Given the description of an element on the screen output the (x, y) to click on. 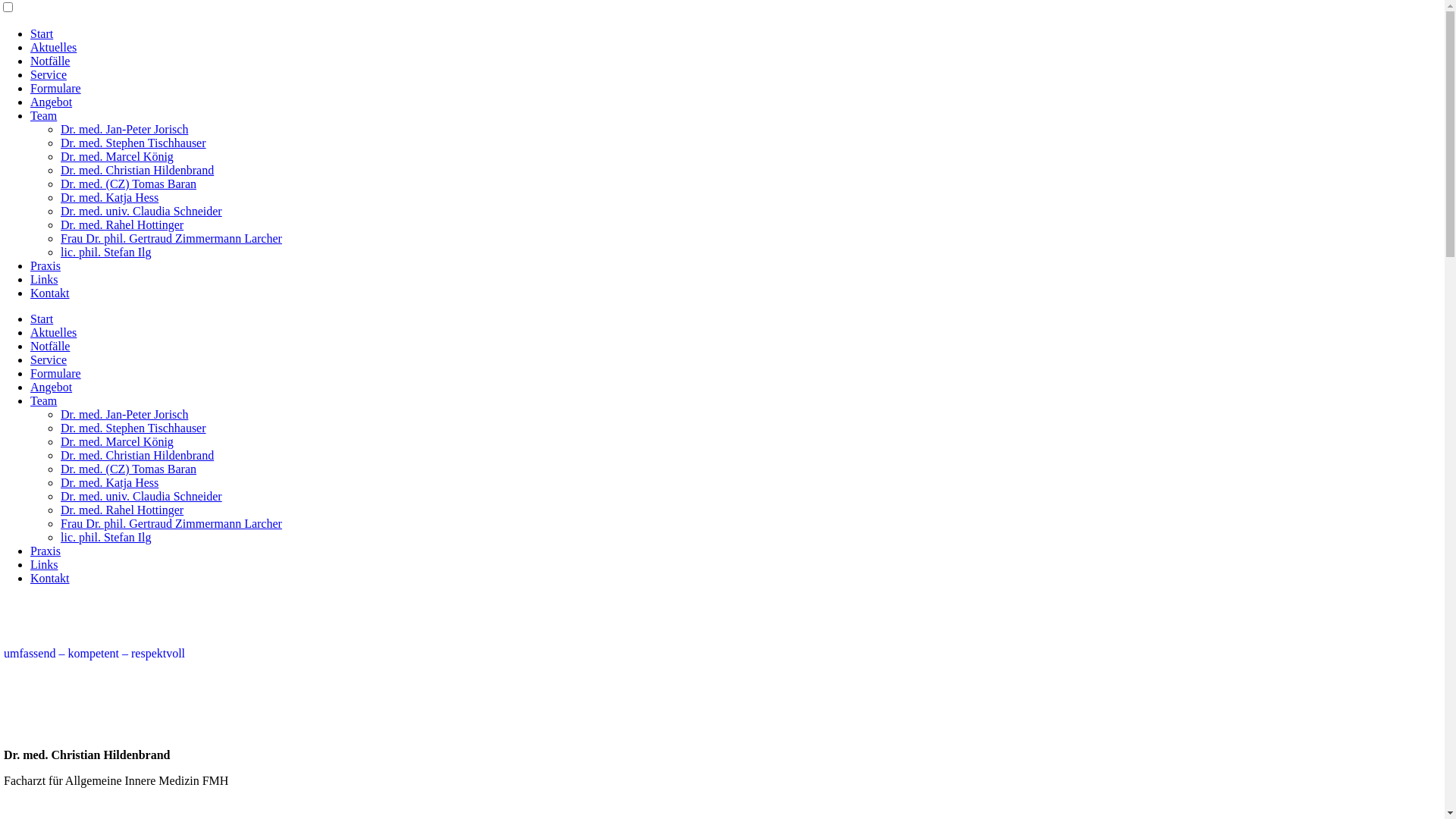
Dr. med. Christian Hildenbrand Element type: text (136, 169)
Praxis Element type: text (45, 265)
Formulare Element type: text (55, 87)
Links Element type: text (43, 279)
Start Element type: text (41, 318)
Dr. med. Jan-Peter Jorisch Element type: text (124, 413)
Praxis Element type: text (45, 550)
Formulare Element type: text (55, 373)
Dr. med. Rahel Hottinger Element type: text (121, 224)
Dr. med. Stephen Tischhauser Element type: text (133, 142)
Dr. med. (CZ) Tomas Baran Element type: text (128, 468)
Dr. med. (CZ) Tomas Baran Element type: text (128, 183)
Service Element type: text (48, 74)
Dr. med. Rahel Hottinger Element type: text (121, 509)
Angebot Element type: text (51, 101)
Aktuelles Element type: text (53, 332)
lic. phil. Stefan Ilg Element type: text (105, 251)
Frau Dr. phil. Gertraud Zimmermann Larcher Element type: text (171, 523)
Aktuelles Element type: text (53, 46)
Angebot Element type: text (51, 386)
Dr. med. Christian Hildenbrand Element type: text (136, 454)
lic. phil. Stefan Ilg Element type: text (105, 536)
Dr. med. univ. Claudia Schneider Element type: text (141, 210)
Dr. med. Stephen Tischhauser Element type: text (133, 427)
Service Element type: text (48, 359)
Dr. med. Jan-Peter Jorisch Element type: text (124, 128)
Frau Dr. phil. Gertraud Zimmermann Larcher Element type: text (171, 238)
Dr. med. Katja Hess Element type: text (109, 482)
Team Element type: text (43, 115)
Kontakt Element type: text (49, 577)
Kontakt Element type: text (49, 292)
Start Element type: text (41, 33)
Team Element type: text (43, 400)
Dr. med. Katja Hess Element type: text (109, 197)
Links Element type: text (43, 564)
Dr. med. univ. Claudia Schneider Element type: text (141, 495)
